Given the description of an element on the screen output the (x, y) to click on. 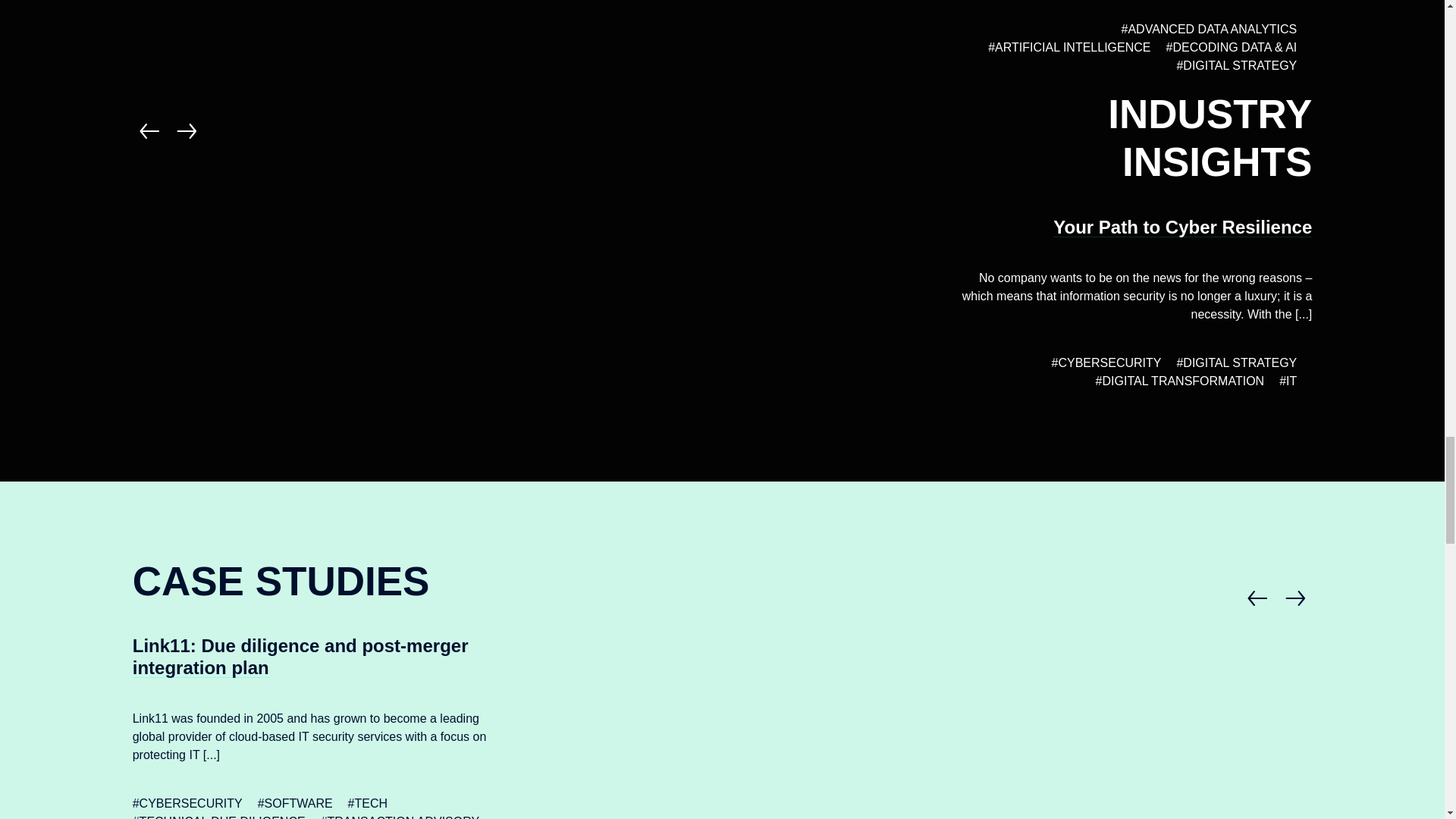
Your Path to Cyber Resilience (423, 98)
Your Path to Cyber Resilience (1181, 227)
Link11: Due diligence and post-merger integration plan (300, 656)
Link11: Due diligence and post-merger integration plan (1021, 565)
